Given the description of an element on the screen output the (x, y) to click on. 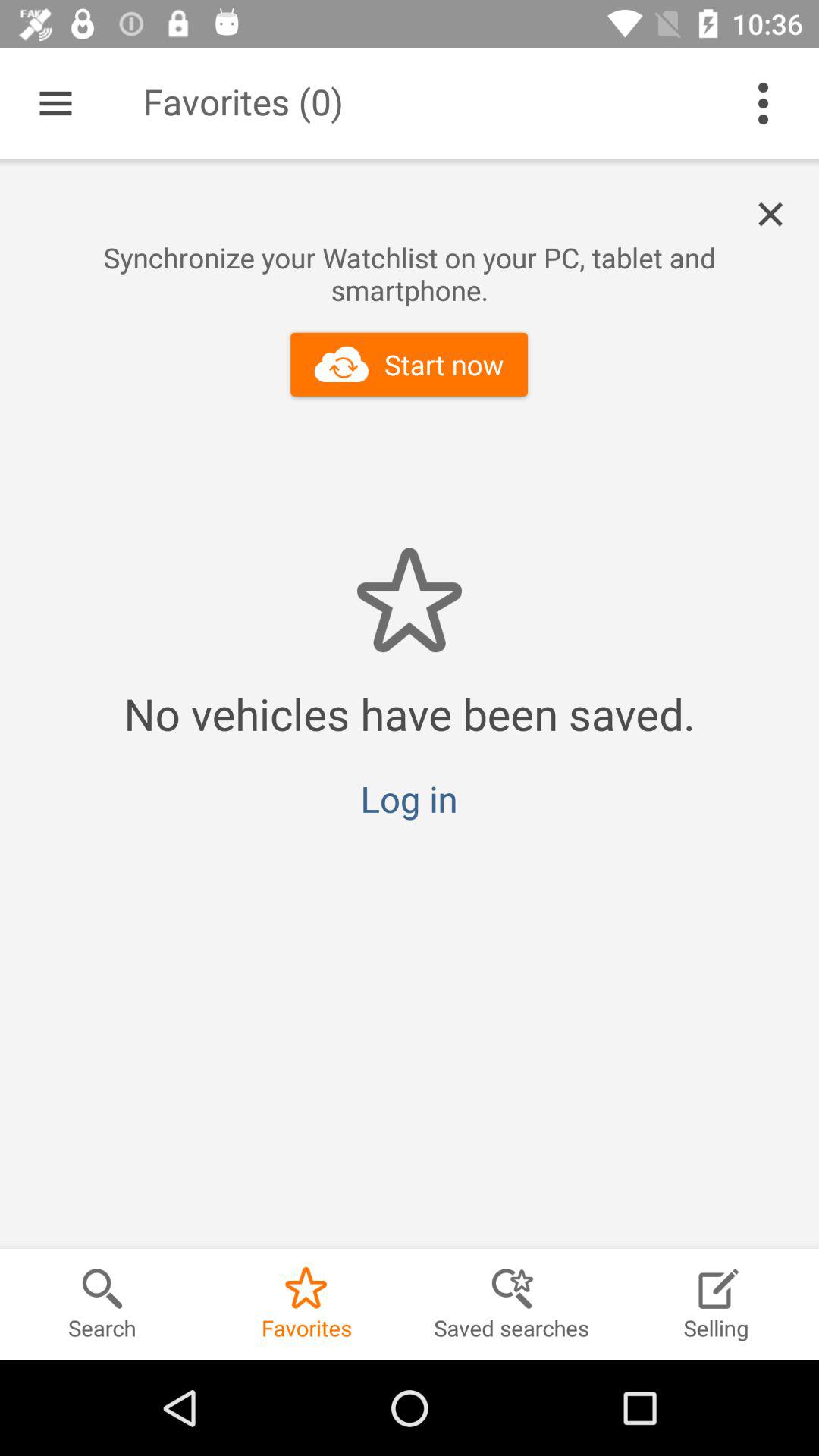
close the start now notification (779, 214)
